Given the description of an element on the screen output the (x, y) to click on. 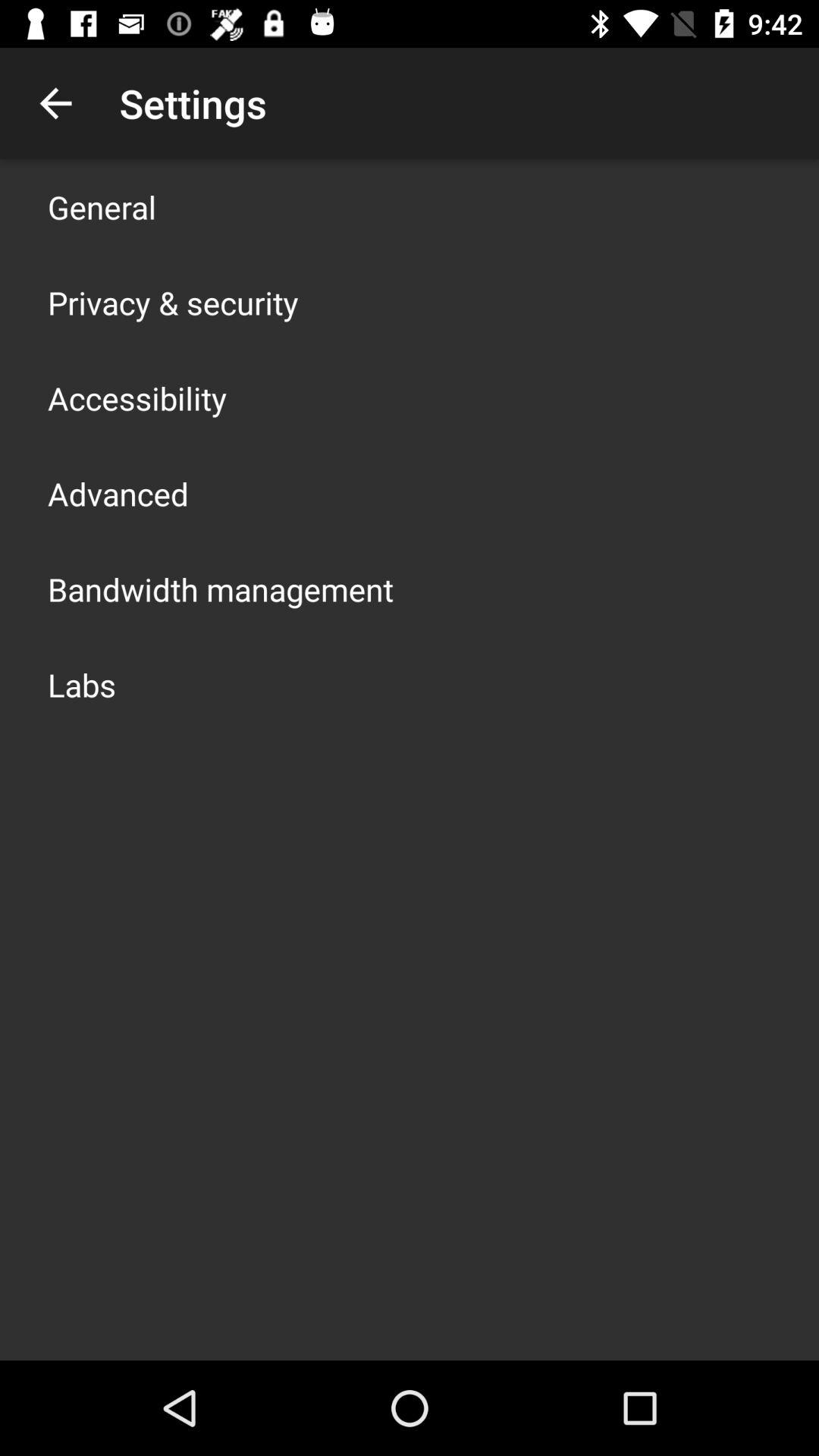
flip to accessibility (136, 397)
